Given the description of an element on the screen output the (x, y) to click on. 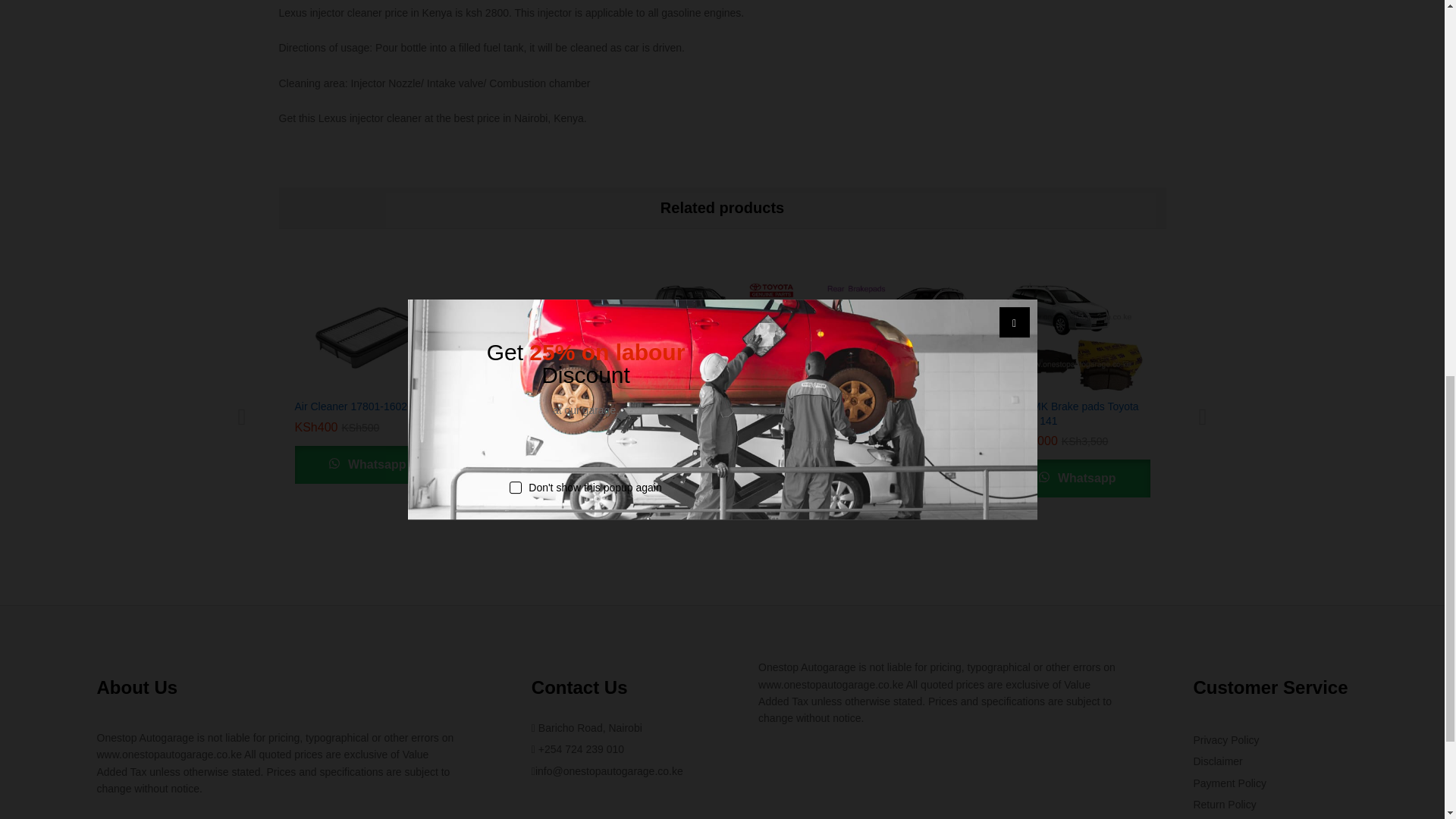
Complete order on WhatsApp to buy Air Cleaner 17801-16020 (366, 464)
